Given the description of an element on the screen output the (x, y) to click on. 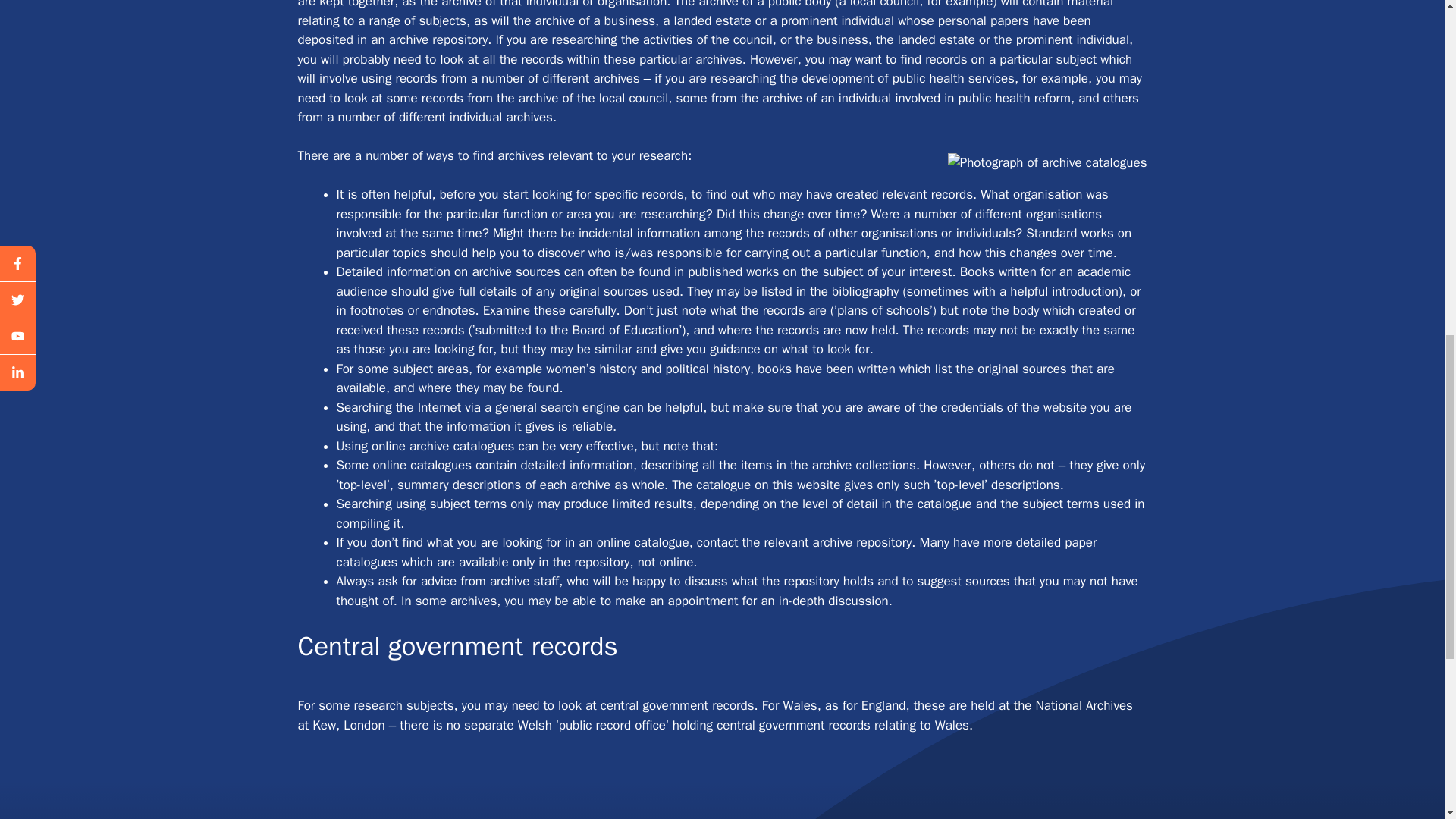
Photograph of archive catalogues (1047, 162)
